Given the description of an element on the screen output the (x, y) to click on. 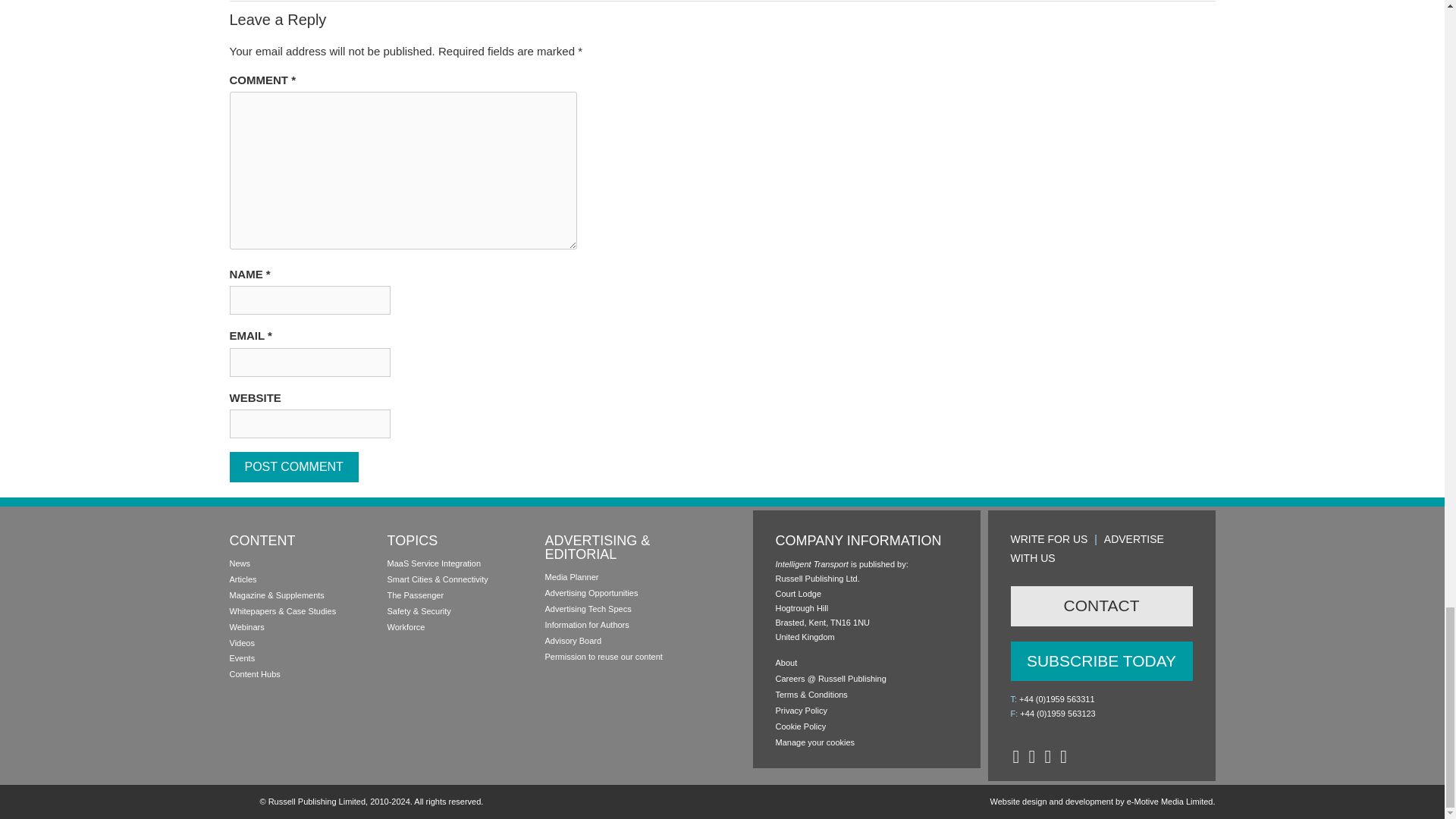
Post Comment (293, 467)
